Given the description of an element on the screen output the (x, y) to click on. 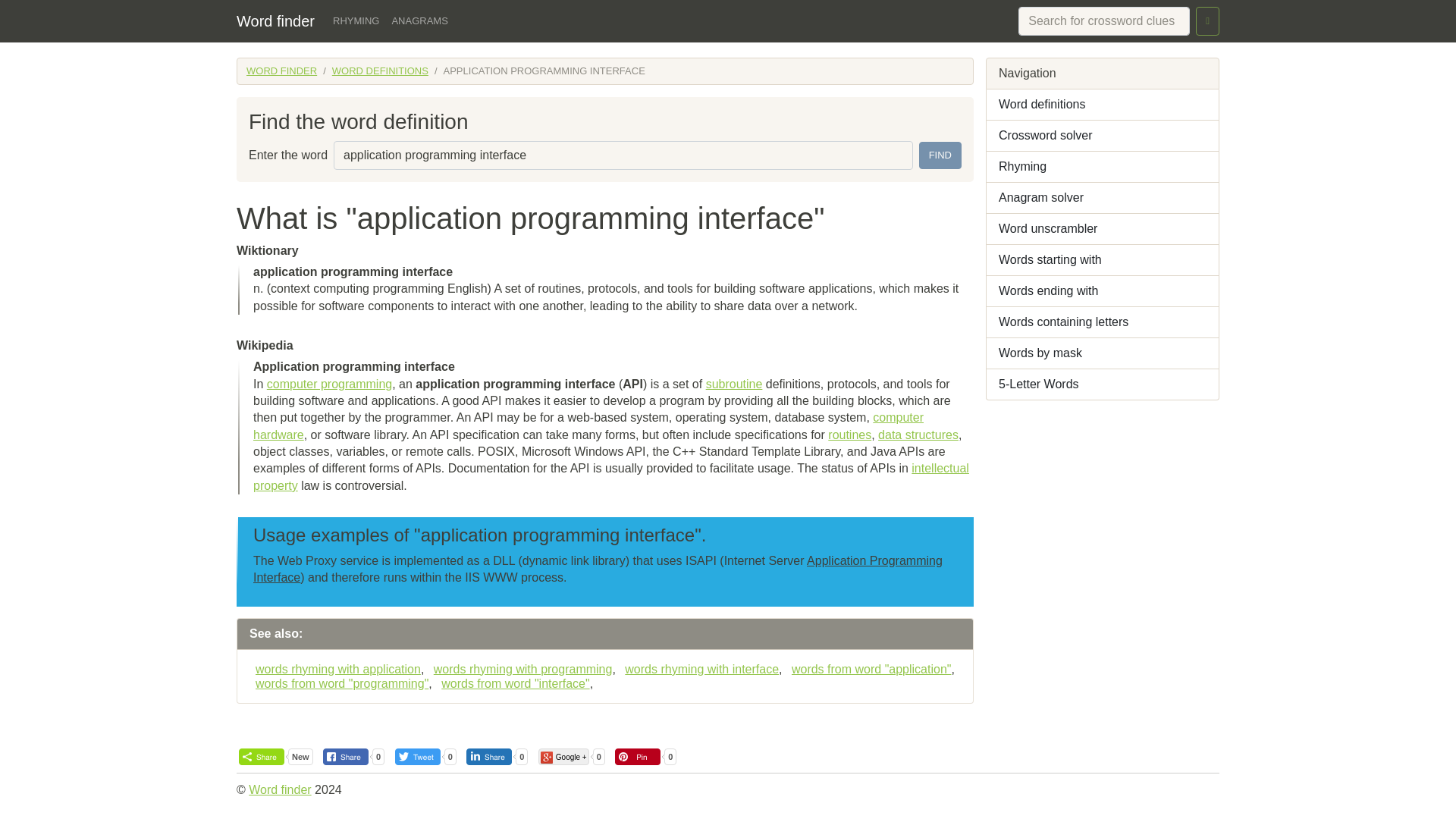
words rhyming with programming (520, 668)
Word unscrambler (1102, 228)
Words containing letters (1102, 322)
FIND (939, 154)
computer programming (328, 383)
words from word "interface" (512, 683)
words from word "application" (869, 668)
5-Letter Words (1102, 384)
WORD DEFINITIONS (379, 70)
RHYMING (355, 21)
Words by mask (1102, 353)
Words starting with (1102, 260)
computer hardware (588, 425)
Rhyming (1102, 166)
Words ending with (1102, 291)
